Given the description of an element on the screen output the (x, y) to click on. 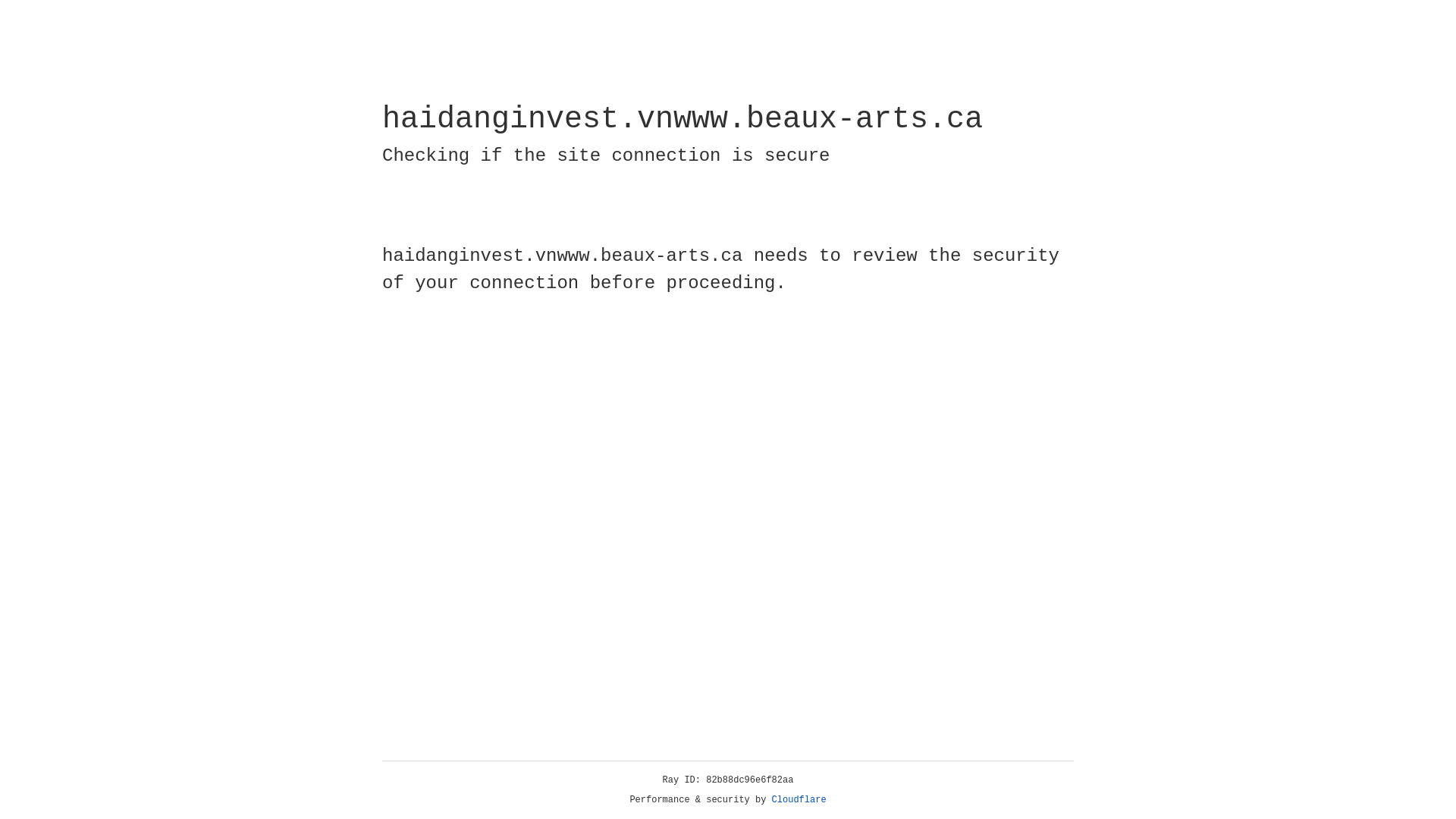
Cloudflare Element type: text (798, 799)
